Given the description of an element on the screen output the (x, y) to click on. 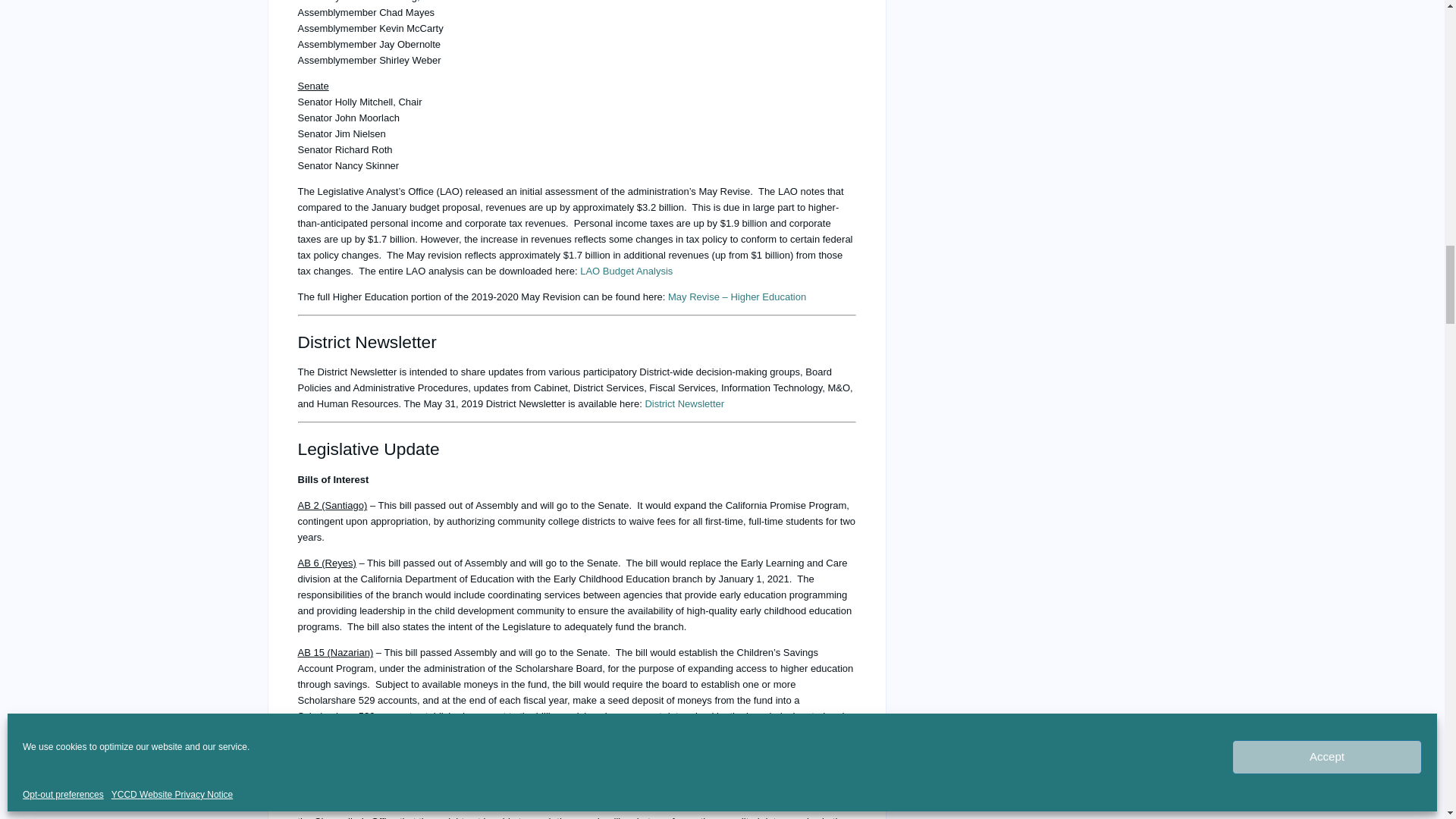
LAO Budget Analysis (625, 270)
